Given the description of an element on the screen output the (x, y) to click on. 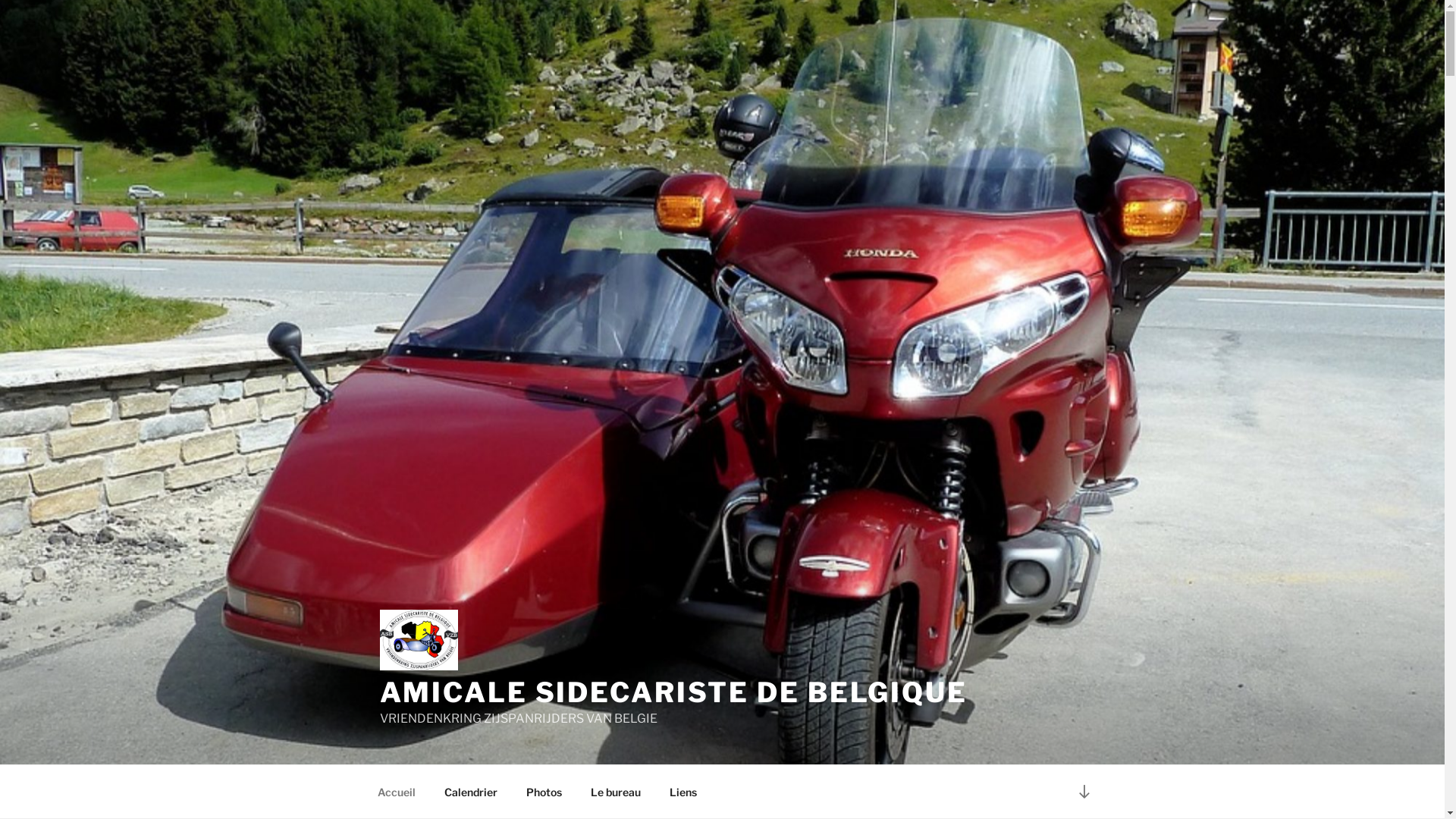
Photos Element type: text (543, 791)
Liens Element type: text (683, 791)
AMICALE SIDECARISTE DE BELGIQUE Element type: text (672, 692)
Le bureau Element type: text (615, 791)
Accueil Element type: text (396, 791)
Calendrier Element type: text (470, 791)
Descendre au contenu Element type: text (1083, 790)
